Given the description of an element on the screen output the (x, y) to click on. 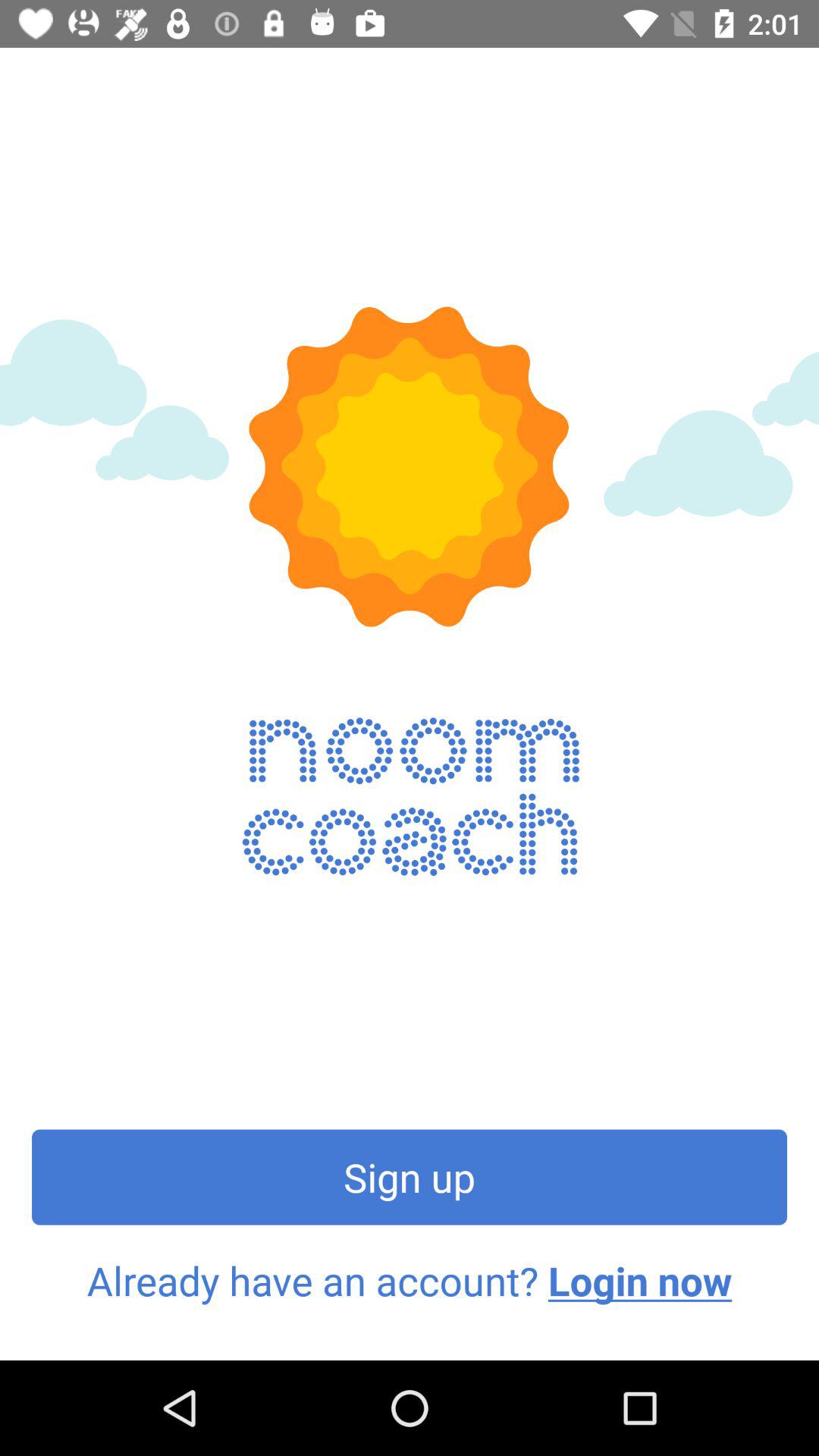
scroll to the sign up icon (409, 1177)
